Given the description of an element on the screen output the (x, y) to click on. 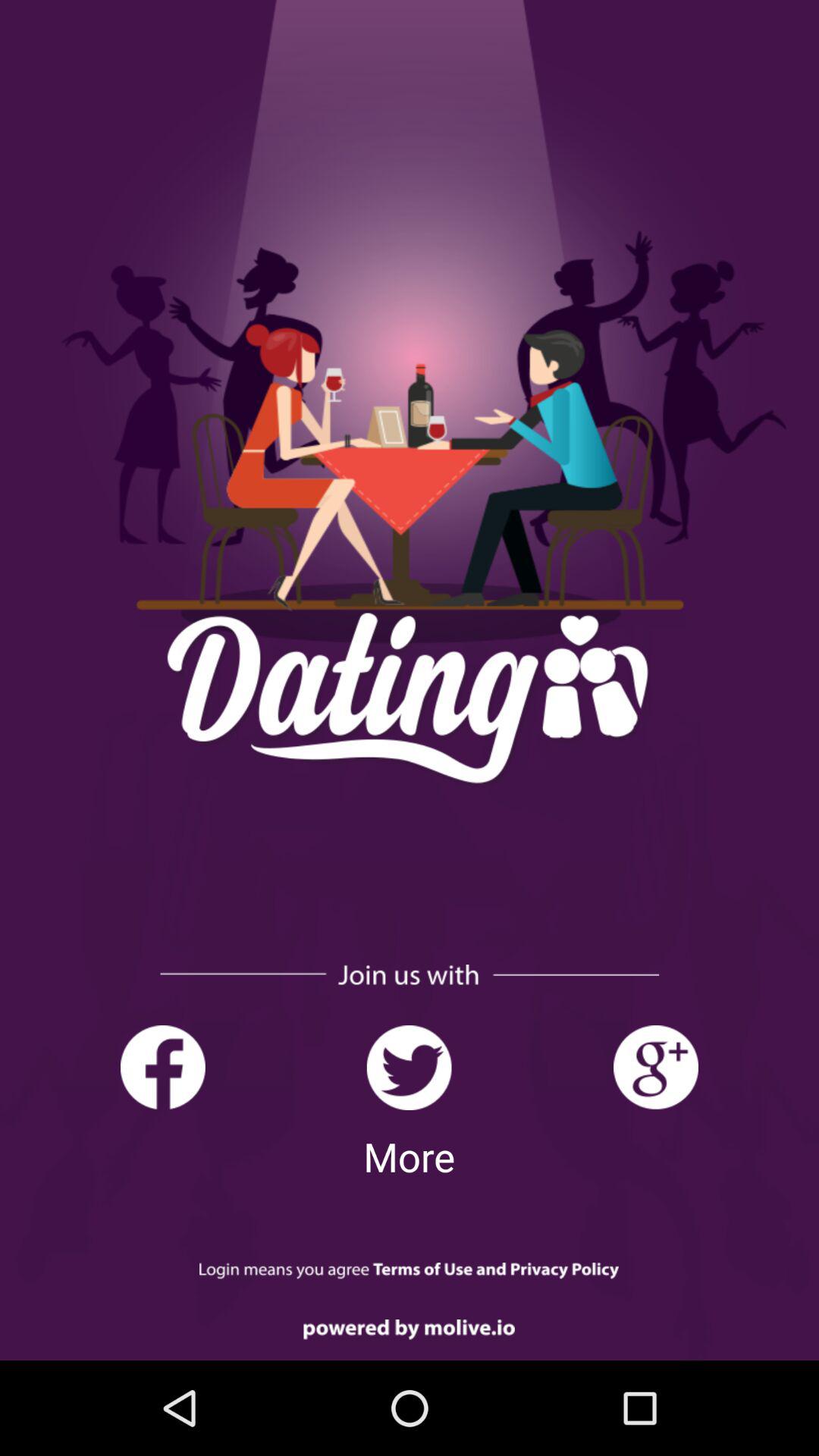
google (655, 1067)
